Given the description of an element on the screen output the (x, y) to click on. 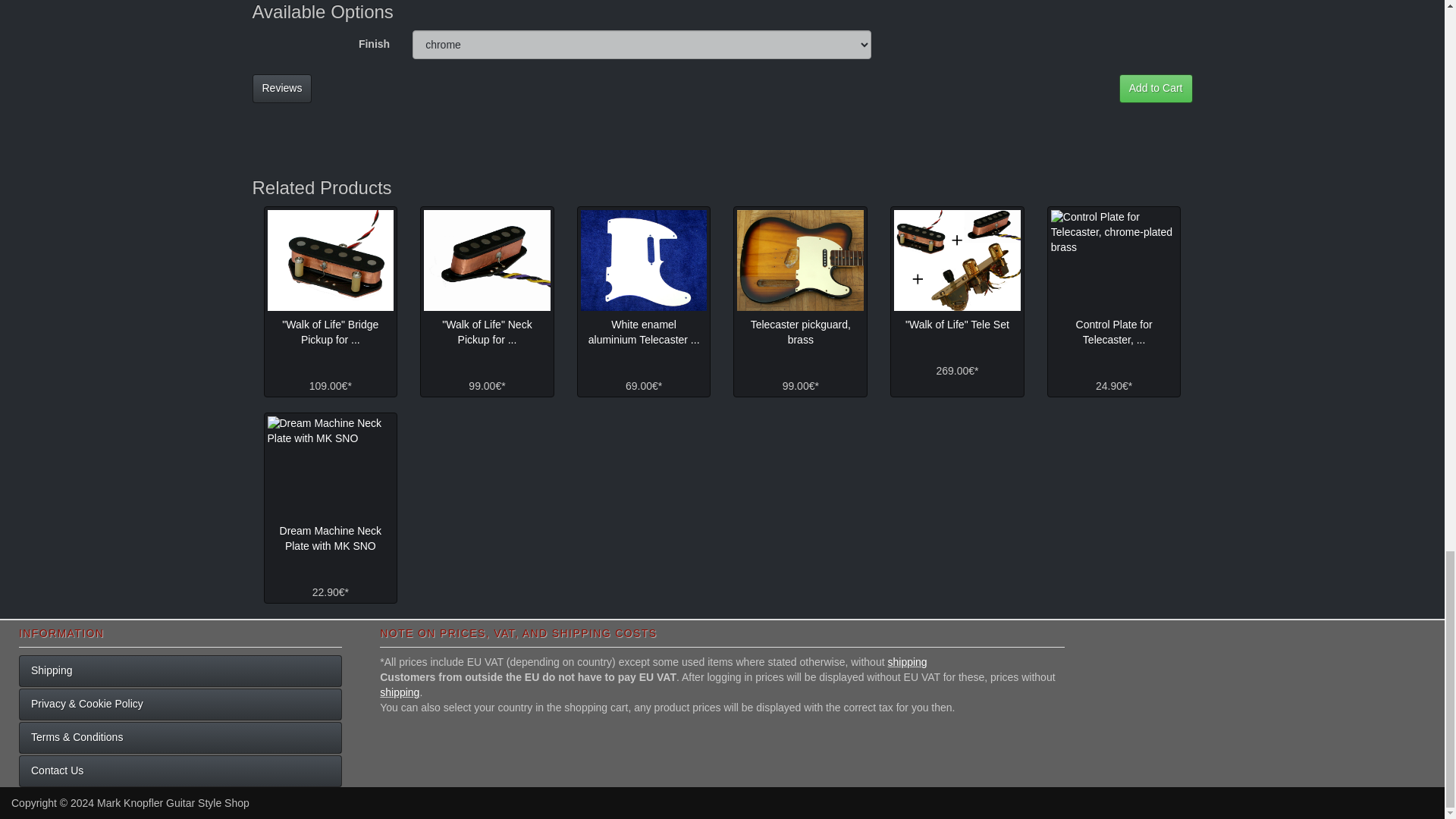
White enamel aluminium Telecaster pickguard (643, 260)
Reviews (281, 88)
Telecaster pickguard, brass (799, 260)
Control Plate for Telecaster, chrome-plated  brass (1114, 260)
"Walk of Life" Bridge Pickup for ... (330, 331)
Dream Machine Neck Plate with MK SNO (329, 466)
Add to Cart (1155, 88)
"Walk of Life" Neck Pickup for ... (486, 331)
